Given the description of an element on the screen output the (x, y) to click on. 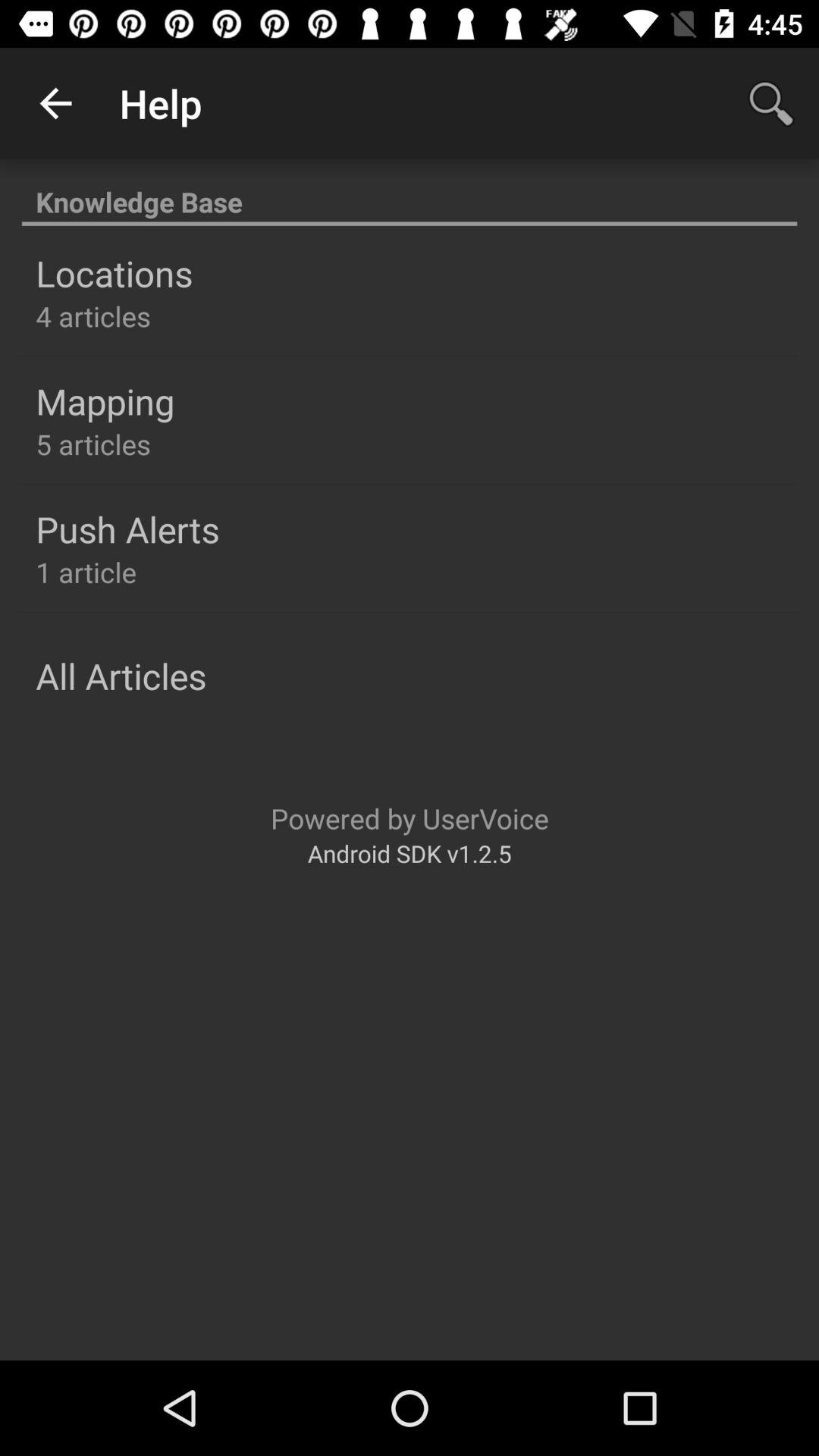
flip to the powered by uservoice item (409, 818)
